Given the description of an element on the screen output the (x, y) to click on. 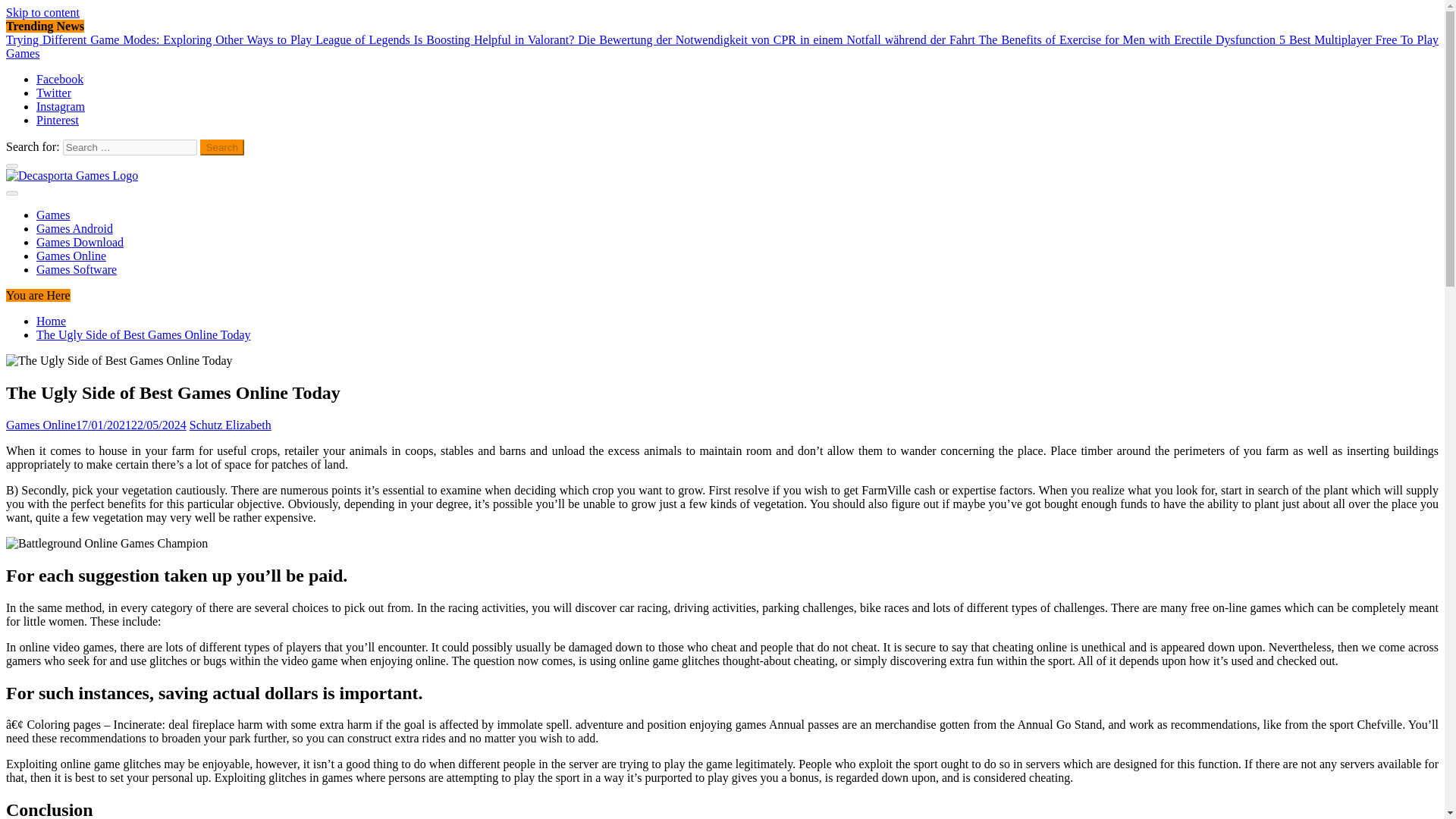
Games Download (79, 241)
Is Boosting Helpful in Valorant? (495, 39)
Games Software (76, 269)
Games Android (74, 228)
The Ugly Side of Best Games Online Today (106, 543)
Facebook (59, 78)
Search (222, 147)
Instagram (60, 106)
